Given the description of an element on the screen output the (x, y) to click on. 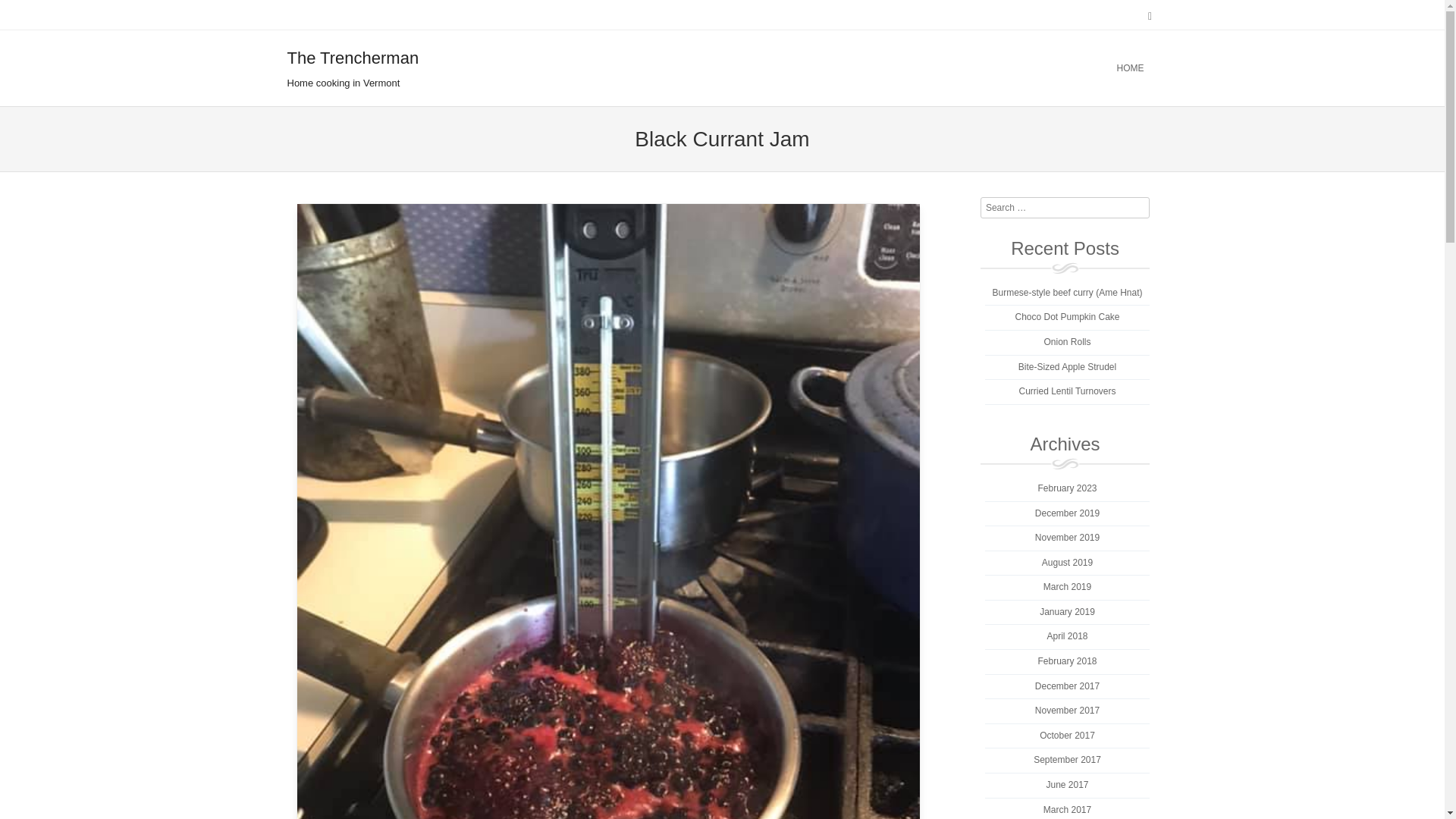
March 2017 (1066, 809)
August 2019 (1067, 562)
December 2017 (1067, 685)
January 2019 (1066, 611)
September 2017 (1066, 759)
April 2018 (1066, 635)
March 2019 (1066, 586)
Search (86, 14)
SKIP TO CONTENT (561, 68)
Onion Rolls (1066, 341)
December 2019 (1067, 512)
Choco Dot Pumpkin Cake (1066, 317)
February 2023 (1066, 488)
November 2019 (1067, 537)
Curried Lentil Turnovers (1066, 390)
